Given the description of an element on the screen output the (x, y) to click on. 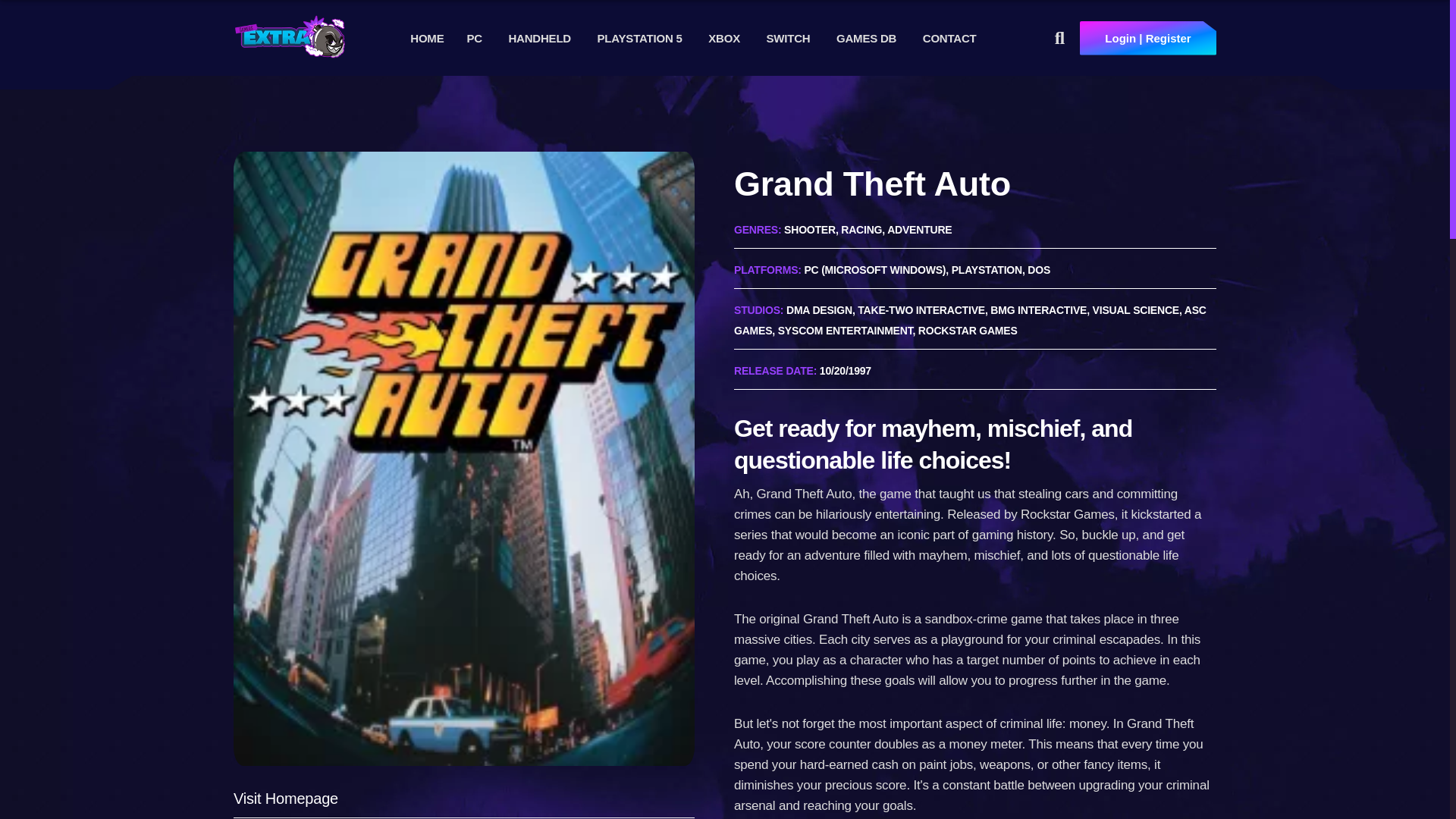
Visit Homepage (284, 798)
PC (473, 37)
SWITCH (787, 37)
PLAYSTATION 5 (639, 37)
HANDHELD (539, 37)
XBOX (723, 37)
GAMES DB (865, 37)
CONTACT (949, 37)
HOME (427, 37)
